Given the description of an element on the screen output the (x, y) to click on. 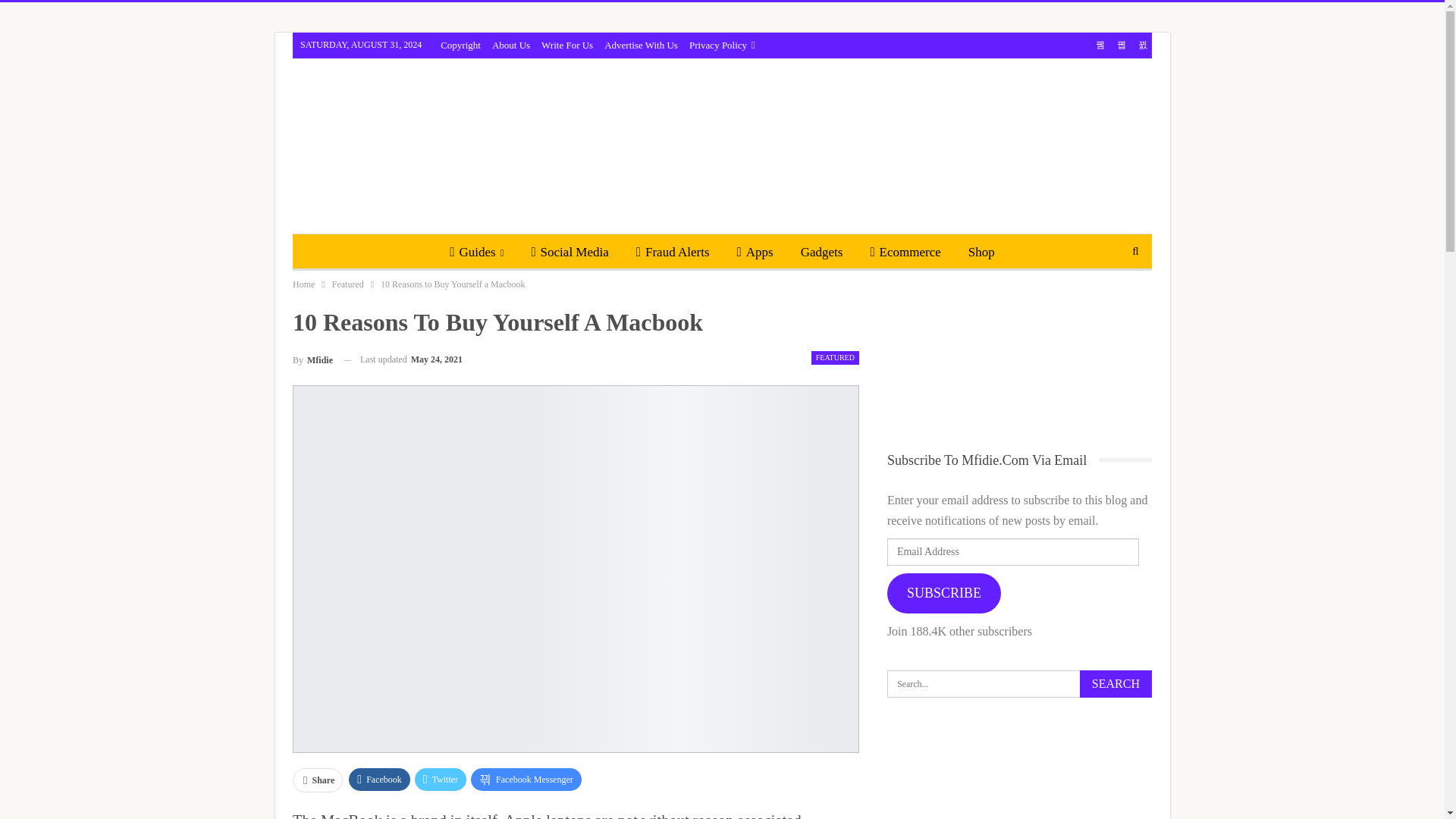
Twitter (439, 779)
Privacy Policy (721, 44)
FEATURED (834, 357)
Write For Us (566, 44)
Copyright (460, 44)
Facebook (379, 779)
Ecommerce (904, 252)
By Mfidie (312, 359)
About Us (510, 44)
Search for: (1018, 683)
